Given the description of an element on the screen output the (x, y) to click on. 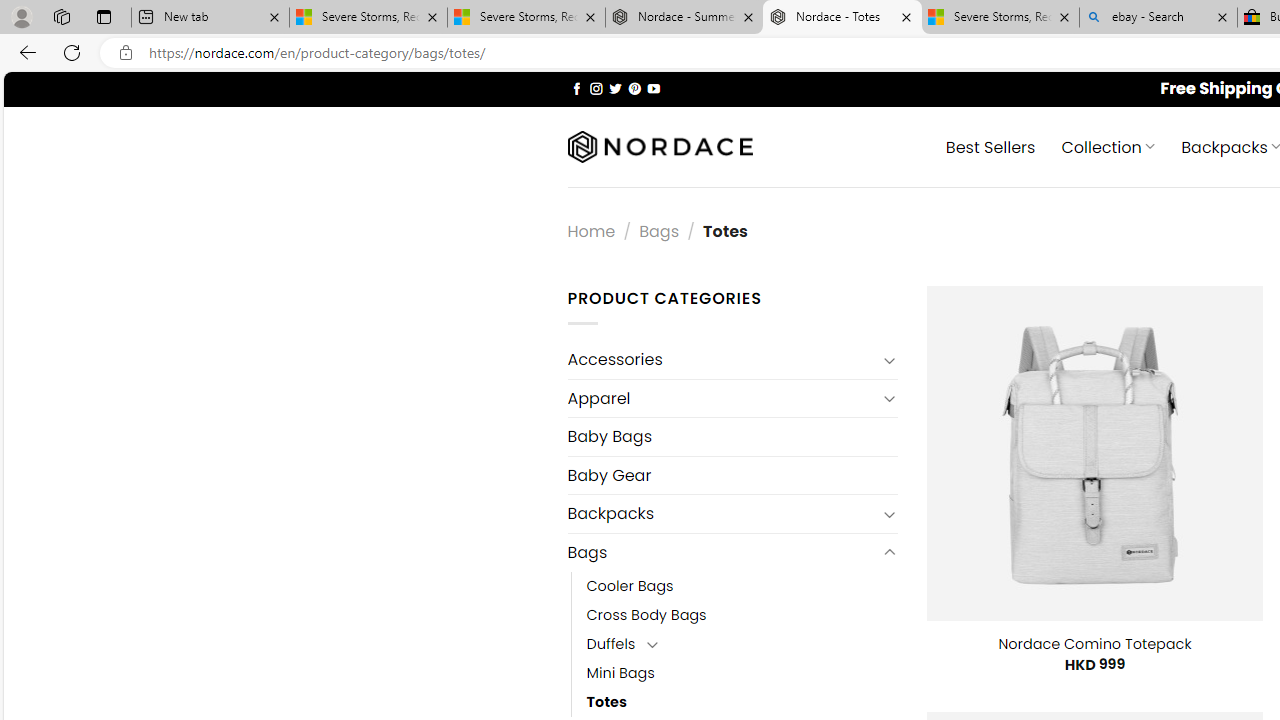
Duffels (611, 643)
Follow on Pinterest (634, 88)
